Given the description of an element on the screen output the (x, y) to click on. 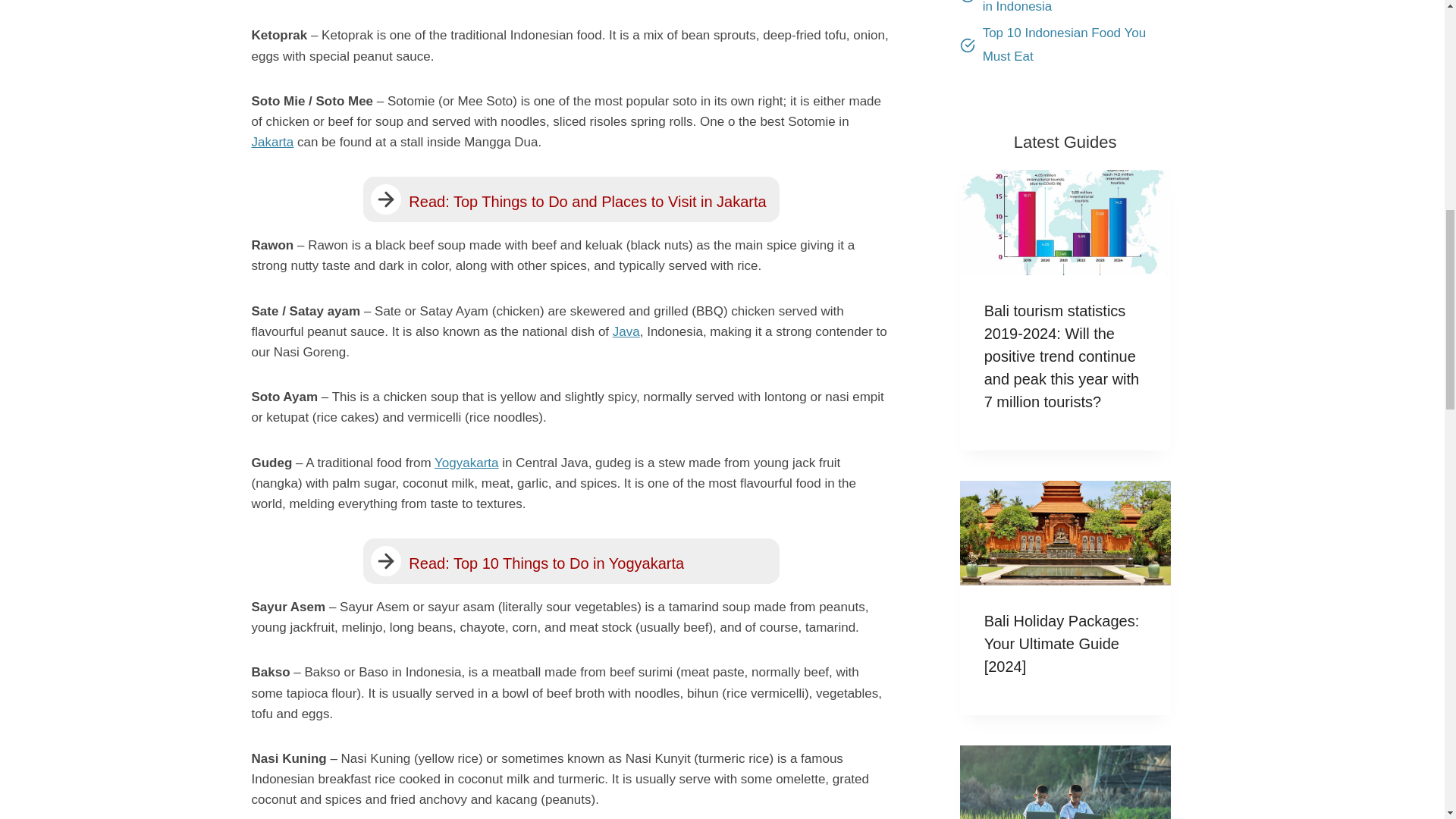
Jakarta (272, 142)
Java (626, 331)
Read: Top 10 Things to Do in Yogyakarta (570, 560)
Read: Top Things to Do and Places to Visit in Jakarta (570, 198)
Yogyakarta (465, 462)
